Given the description of an element on the screen output the (x, y) to click on. 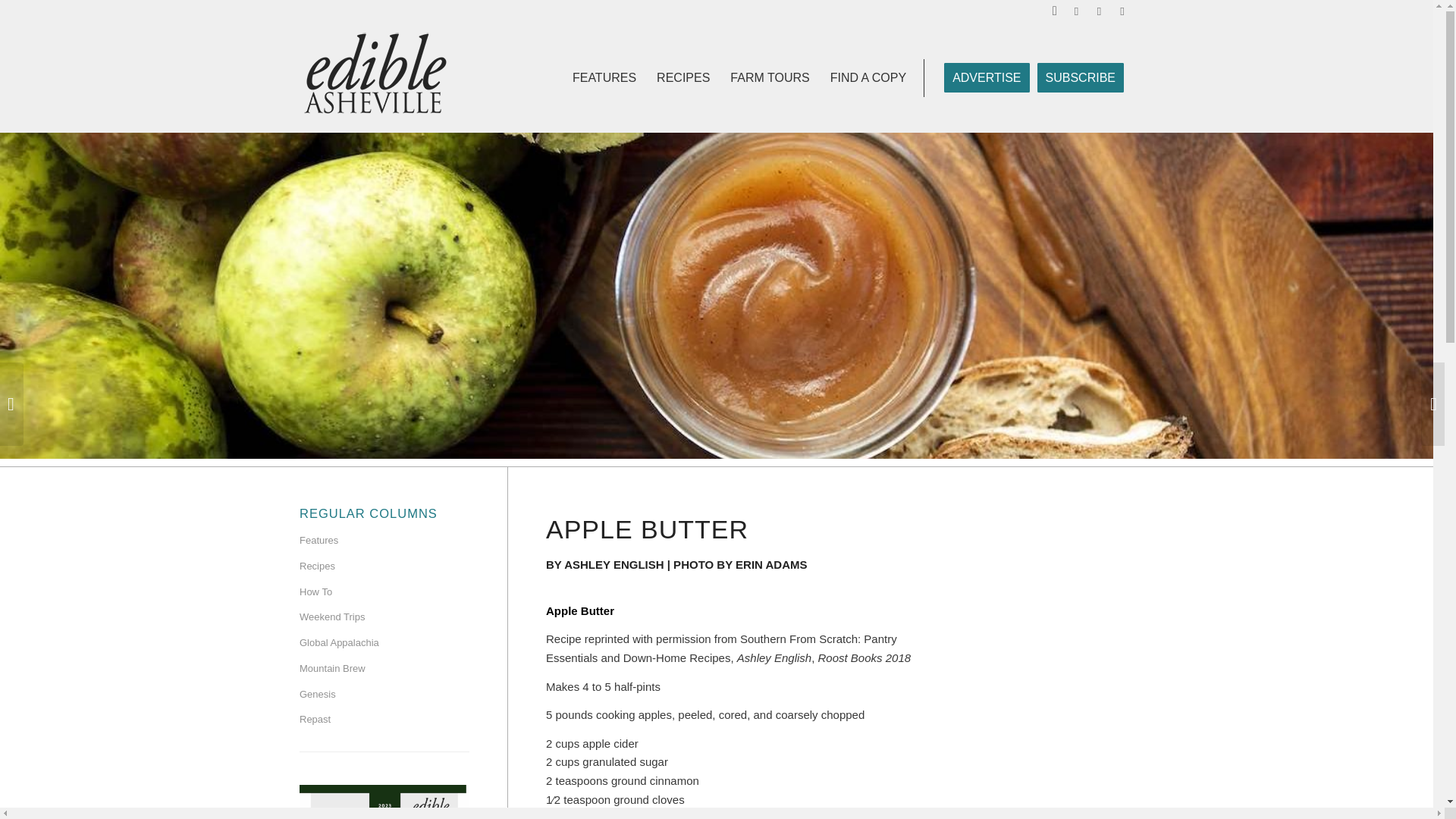
Features (383, 541)
Page 17 (736, 710)
FARM TOURS (768, 77)
X (1122, 11)
Recipes (383, 566)
Global Appalachia (383, 643)
Edible-Asheville-Logo (375, 77)
Instagram (1098, 11)
Genesis (383, 695)
Facebook (1076, 11)
